Given the description of an element on the screen output the (x, y) to click on. 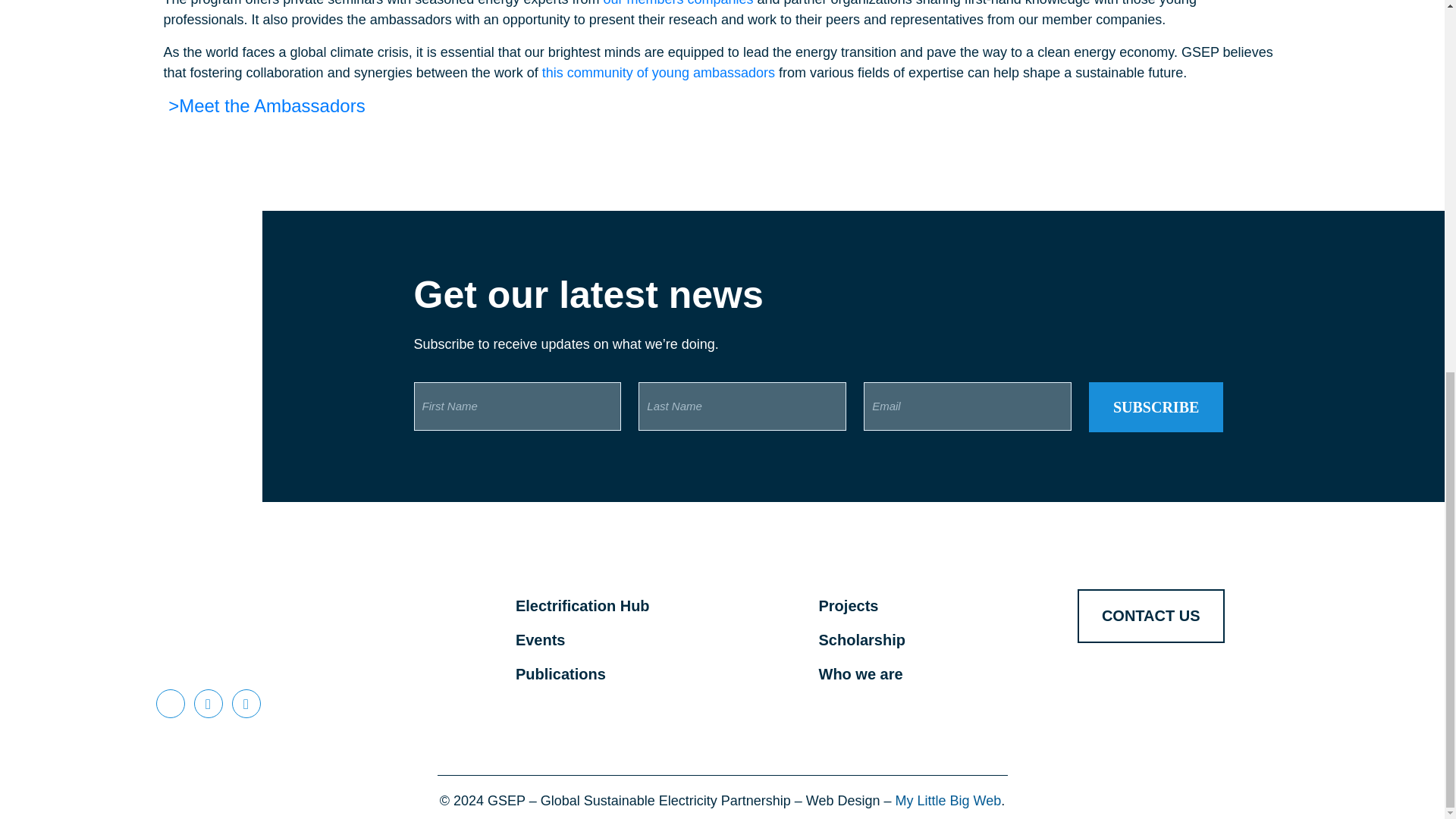
SUBSCRIBE (1156, 407)
